Given the description of an element on the screen output the (x, y) to click on. 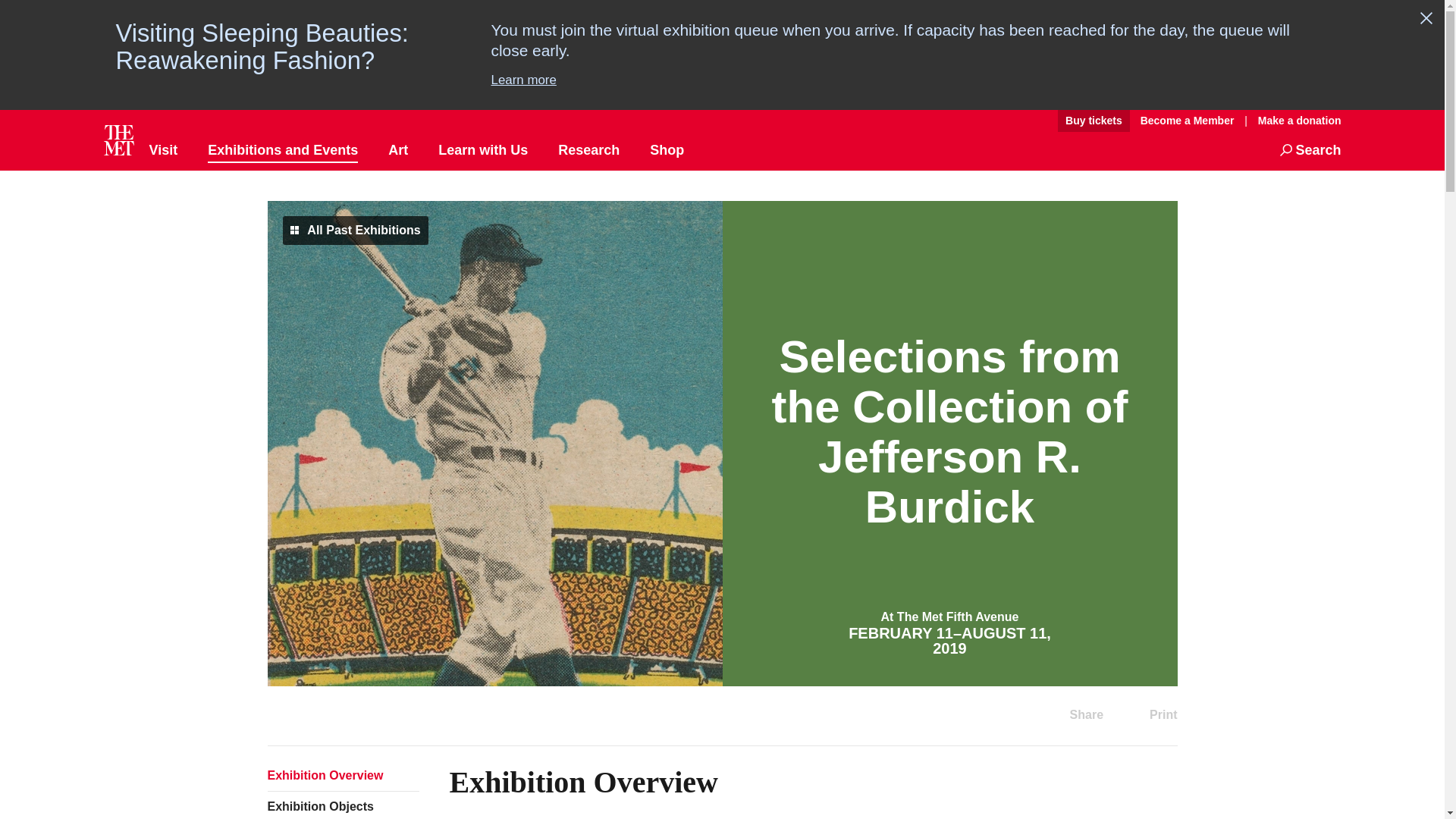
Visit (162, 150)
Shop (666, 150)
Learn more (910, 80)
Research (588, 150)
tickets (1093, 120)
Exhibitions and Events (283, 150)
Search Button (1309, 150)
Learn with Us (482, 150)
Homepage (118, 140)
Search (1309, 150)
